Given the description of an element on the screen output the (x, y) to click on. 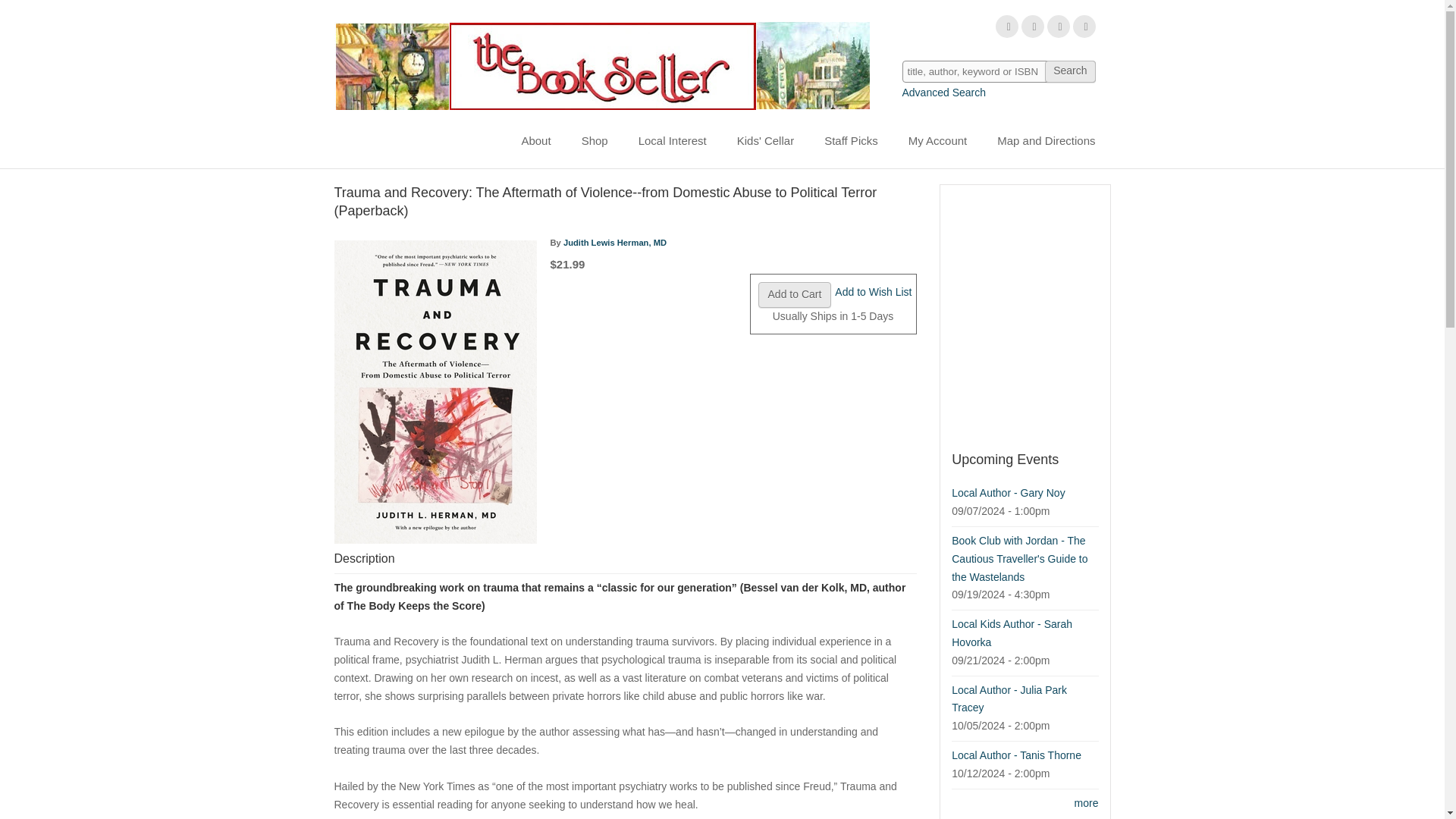
Search (1069, 71)
Shop (594, 140)
Advanced Search (944, 92)
Add to Cart (794, 294)
Enter the terms you wish to search for. (999, 71)
Search (1069, 71)
Kids' Cellar (765, 140)
Local Interest (672, 140)
Home (601, 65)
